Given the description of an element on the screen output the (x, y) to click on. 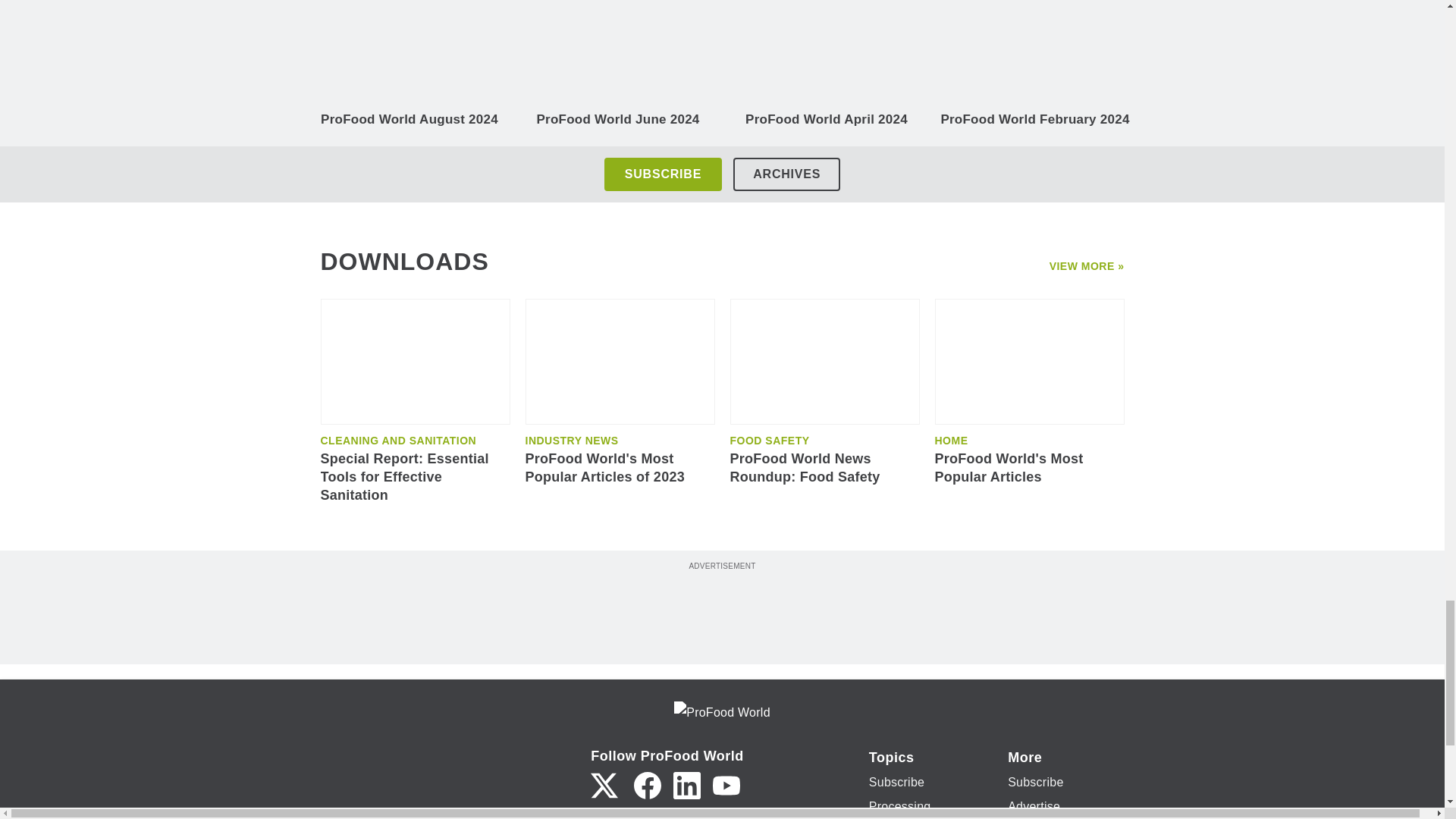
LinkedIn icon (686, 785)
Twitter X icon (604, 785)
YouTube icon (726, 785)
Facebook icon (647, 785)
